Given the description of an element on the screen output the (x, y) to click on. 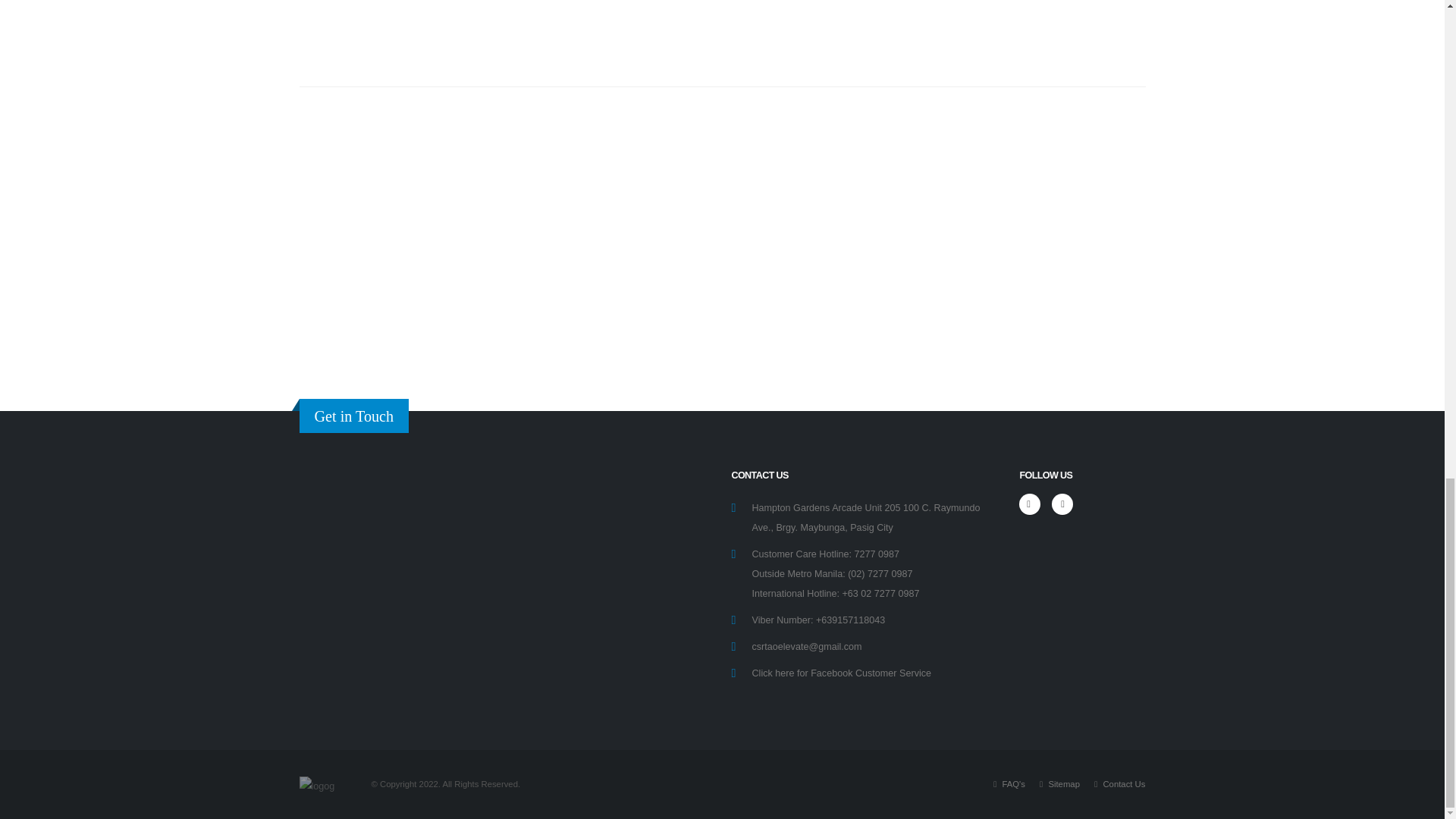
Facebook (1030, 504)
FAQ's (1011, 783)
Contact Us (1122, 783)
youtube (1062, 504)
Click here for Facebook Customer Service (841, 673)
Sitemap (1062, 783)
